Given the description of an element on the screen output the (x, y) to click on. 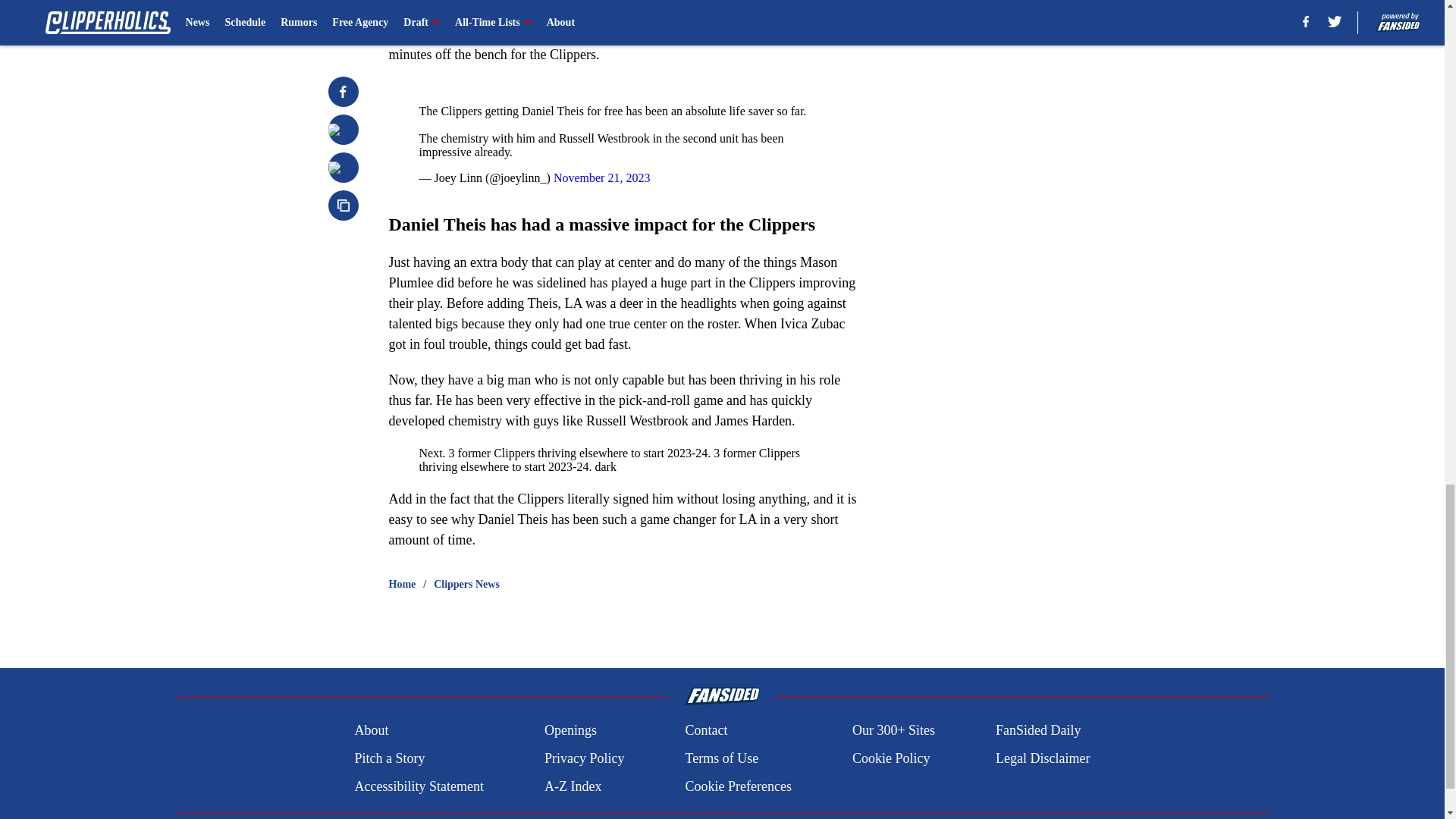
About (370, 730)
Cookie Policy (890, 758)
Contact (705, 730)
Pitch a Story (389, 758)
FanSided Daily (1038, 730)
Legal Disclaimer (1042, 758)
Openings (570, 730)
November 21, 2023 (601, 177)
Privacy Policy (584, 758)
Accessibility Statement (418, 786)
